Given the description of an element on the screen output the (x, y) to click on. 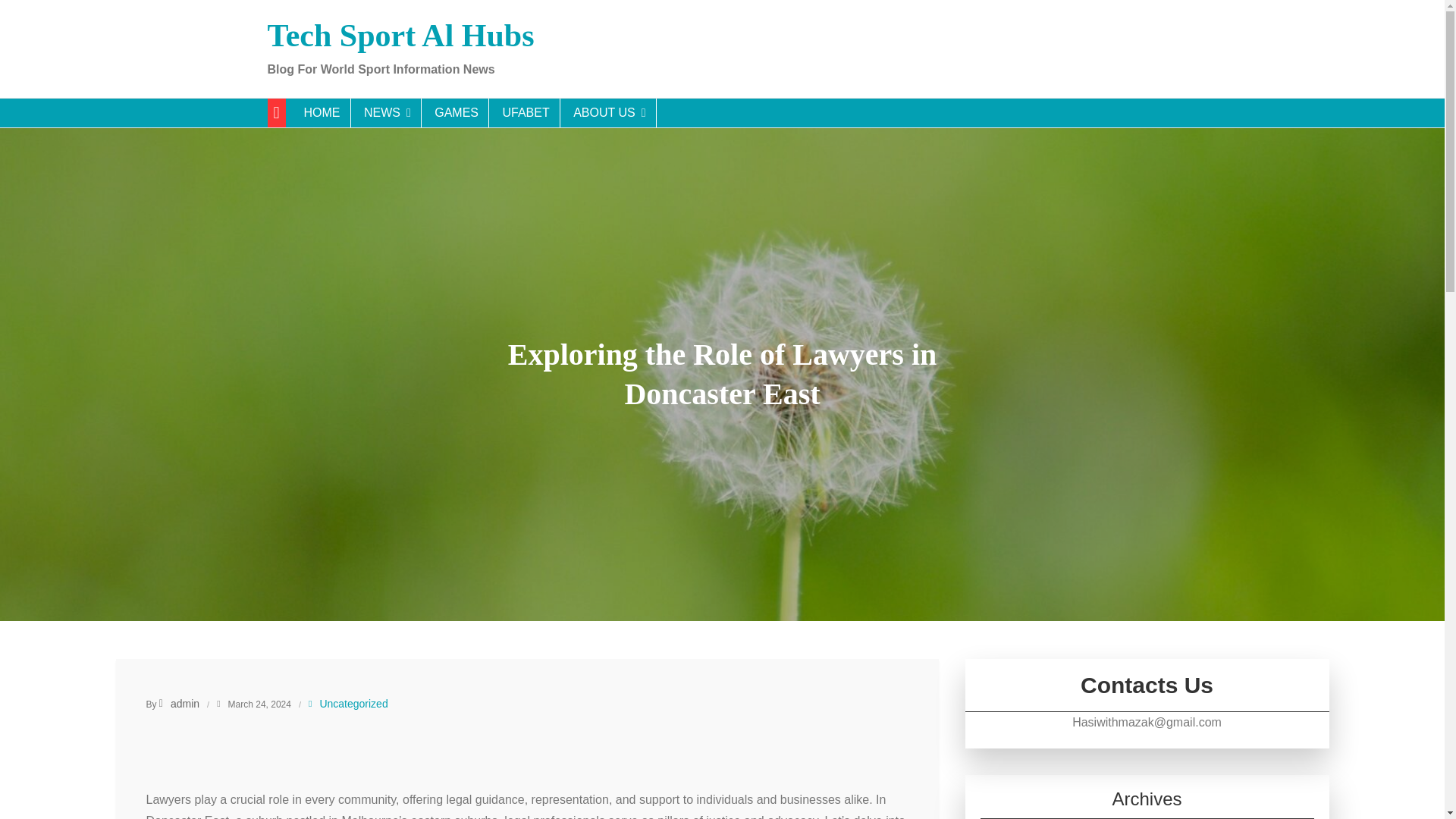
HOME (322, 112)
admin (178, 703)
NEWS (387, 112)
ABOUT US (609, 112)
GAMES (457, 112)
Uncategorized (352, 703)
UFABET (526, 112)
Tech Sport Al Hubs (400, 35)
